Given the description of an element on the screen output the (x, y) to click on. 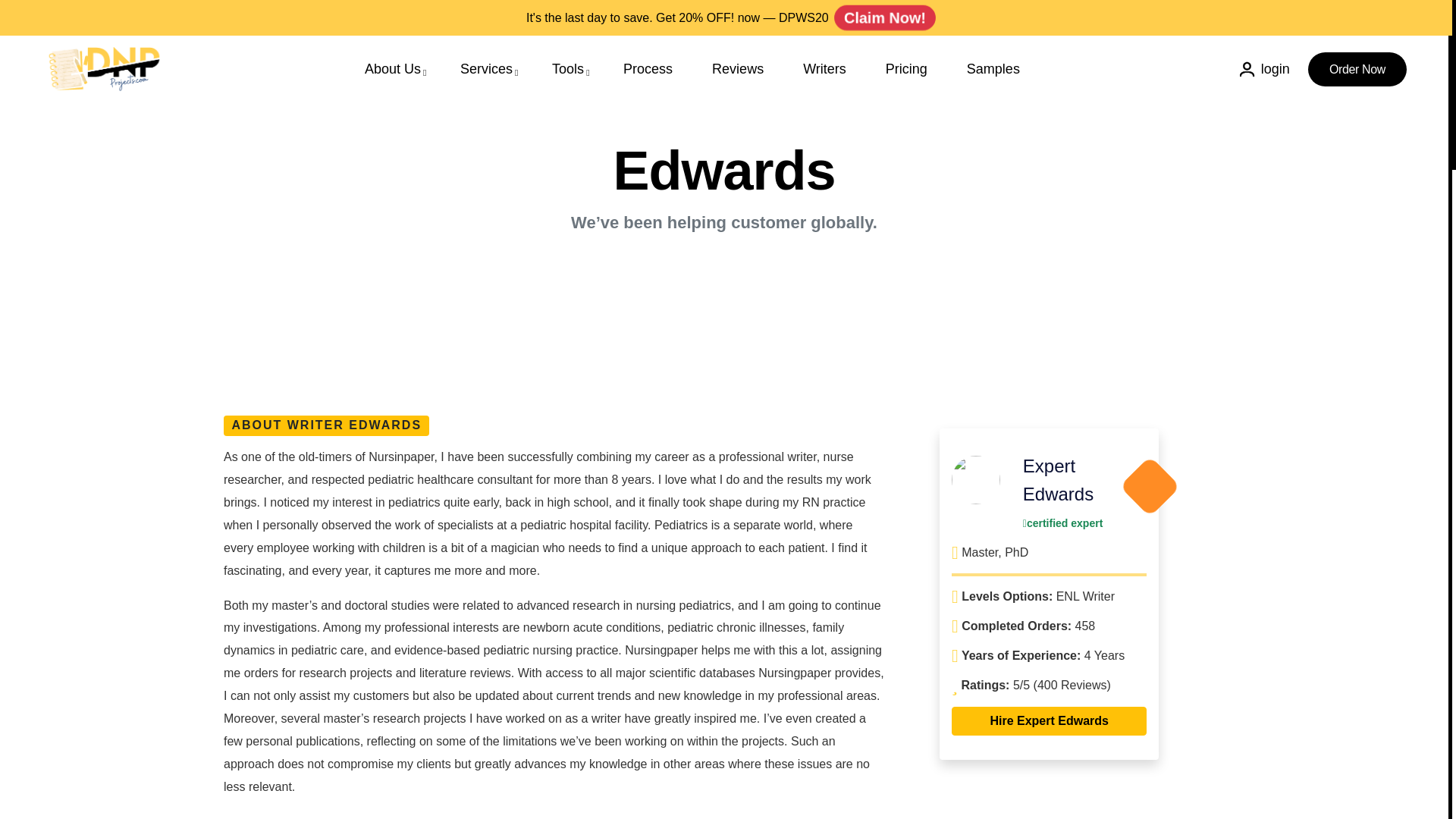
Reviews (736, 68)
Hire Expert Edwards (1049, 720)
Writers (824, 68)
Samples (993, 68)
Services (486, 68)
Claim Now! (885, 17)
Order Now (1356, 69)
DNP Project help (104, 68)
Tools (567, 68)
Pricing (906, 68)
login (1265, 69)
Process (647, 68)
About Us (392, 68)
